Given the description of an element on the screen output the (x, y) to click on. 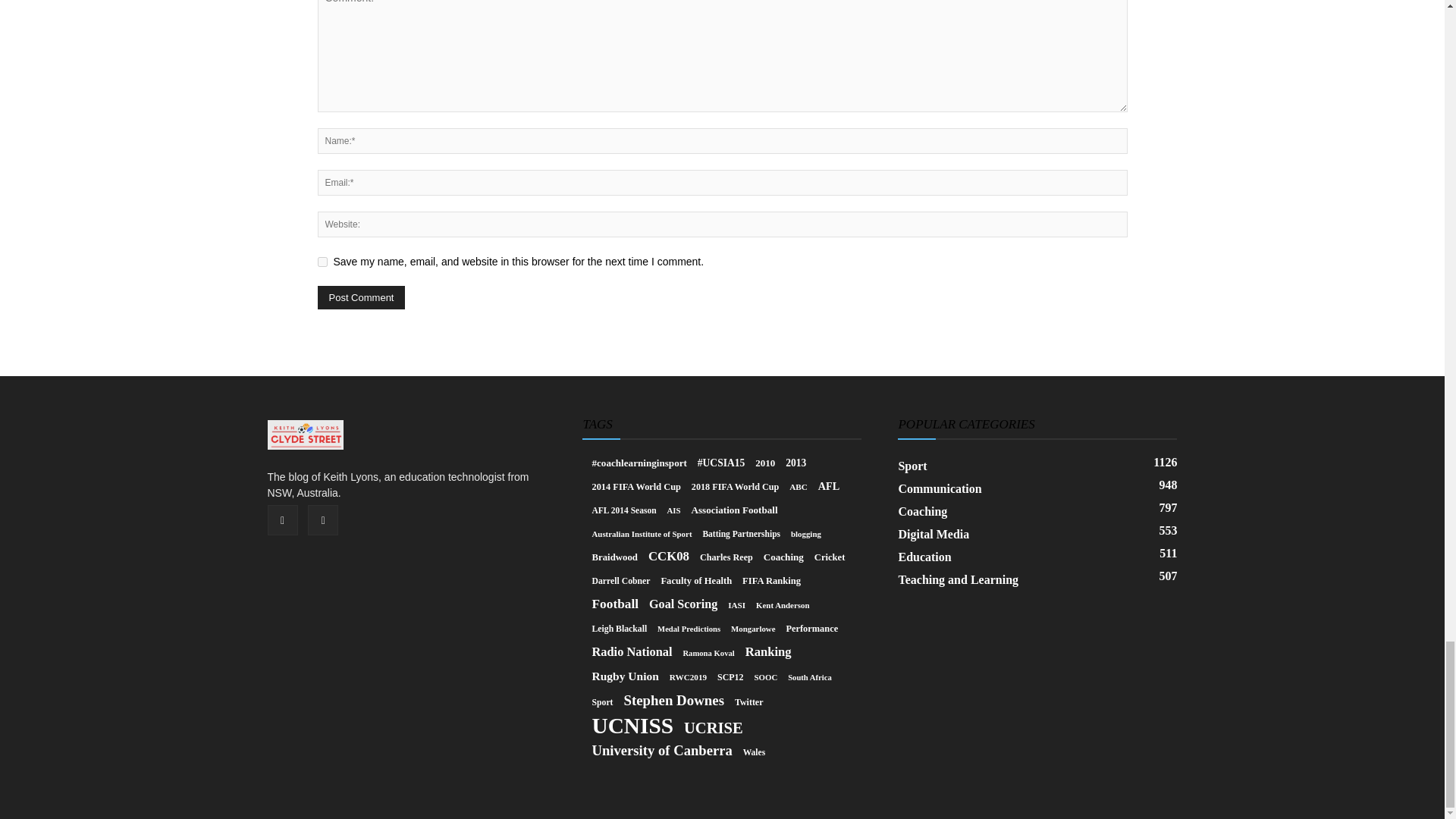
Post Comment (360, 297)
yes (321, 261)
